Given the description of an element on the screen output the (x, y) to click on. 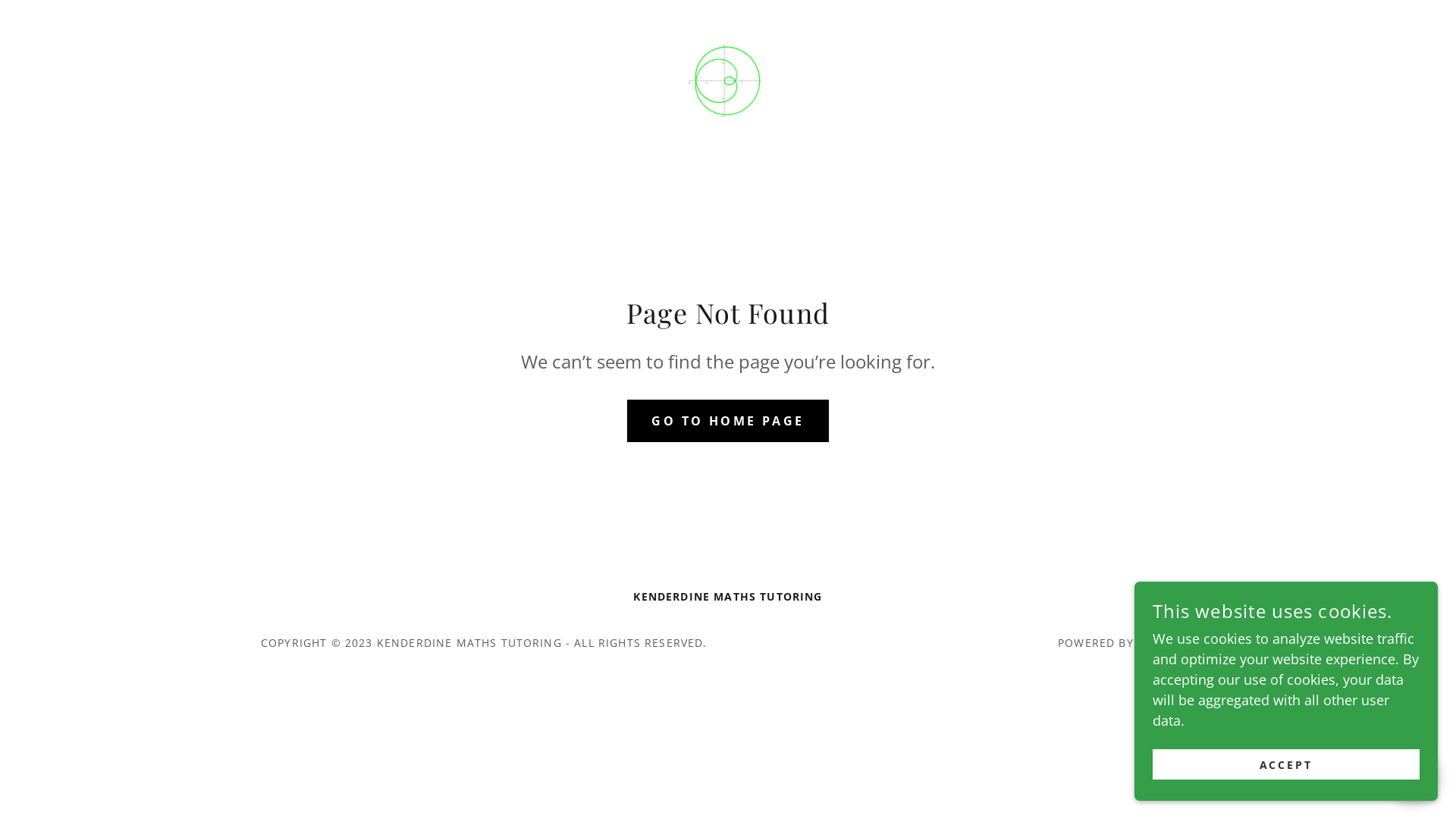
Kenderdine Maths Tutoring Element type: hover (728, 78)
GODADDY Element type: text (1166, 642)
ACCEPT Element type: text (1285, 764)
GO TO HOME PAGE Element type: text (727, 419)
